Given the description of an element on the screen output the (x, y) to click on. 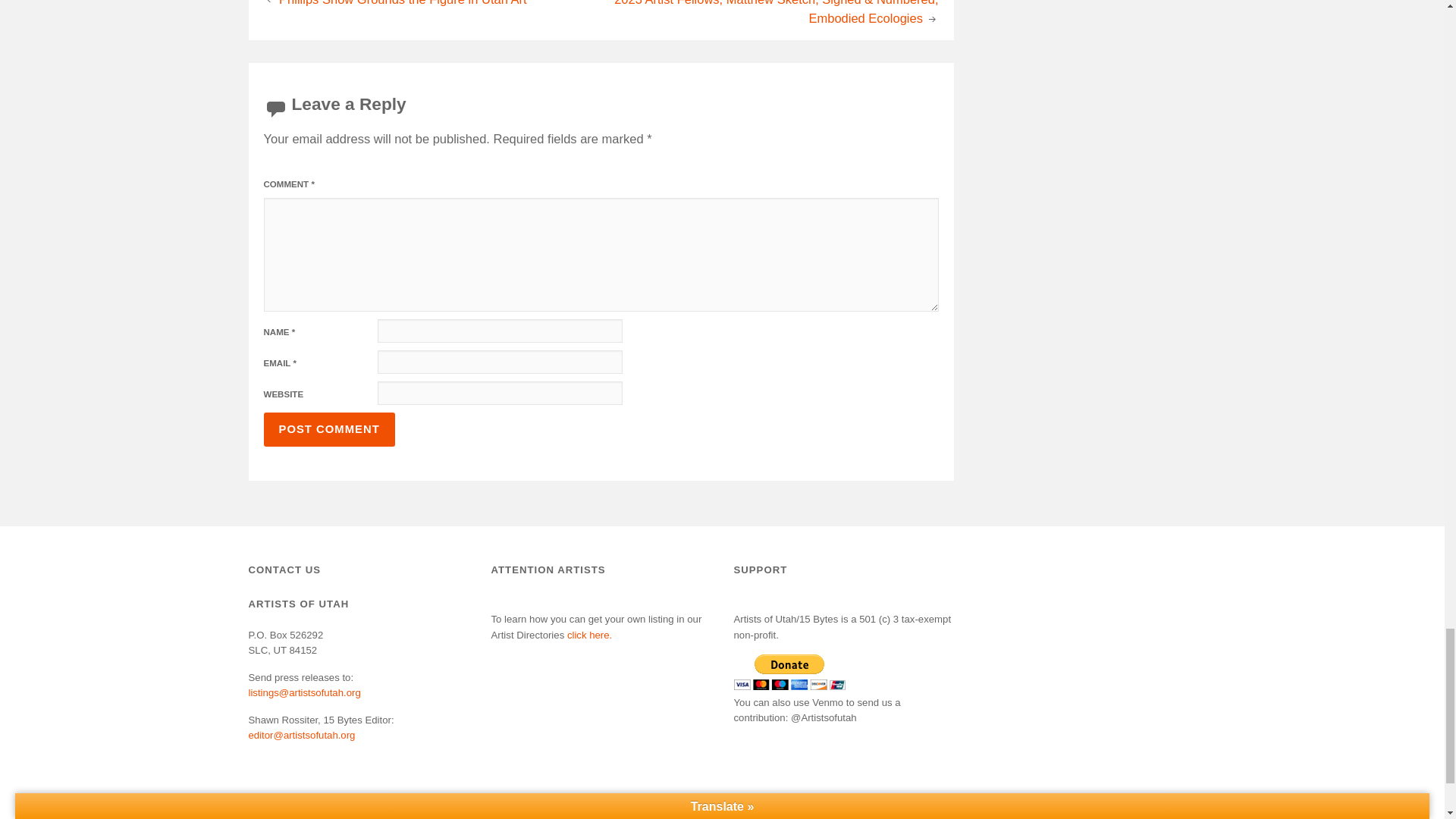
Post Comment (328, 429)
